Given the description of an element on the screen output the (x, y) to click on. 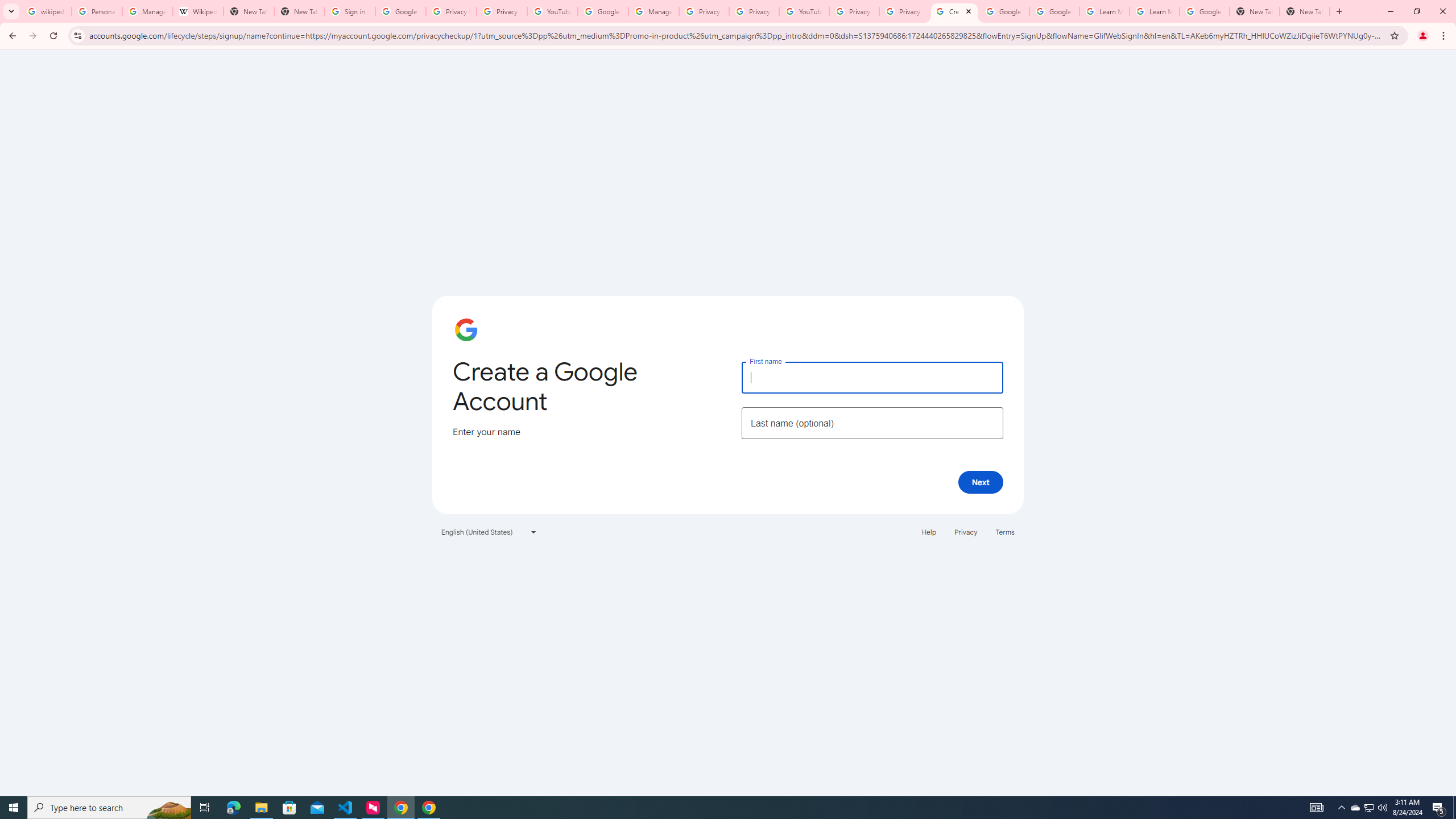
Terms (1005, 531)
New Tab (1254, 11)
First name (871, 376)
Personalization & Google Search results - Google Search Help (97, 11)
YouTube (804, 11)
Last name (optional) (871, 422)
Google Account Help (1054, 11)
